Given the description of an element on the screen output the (x, y) to click on. 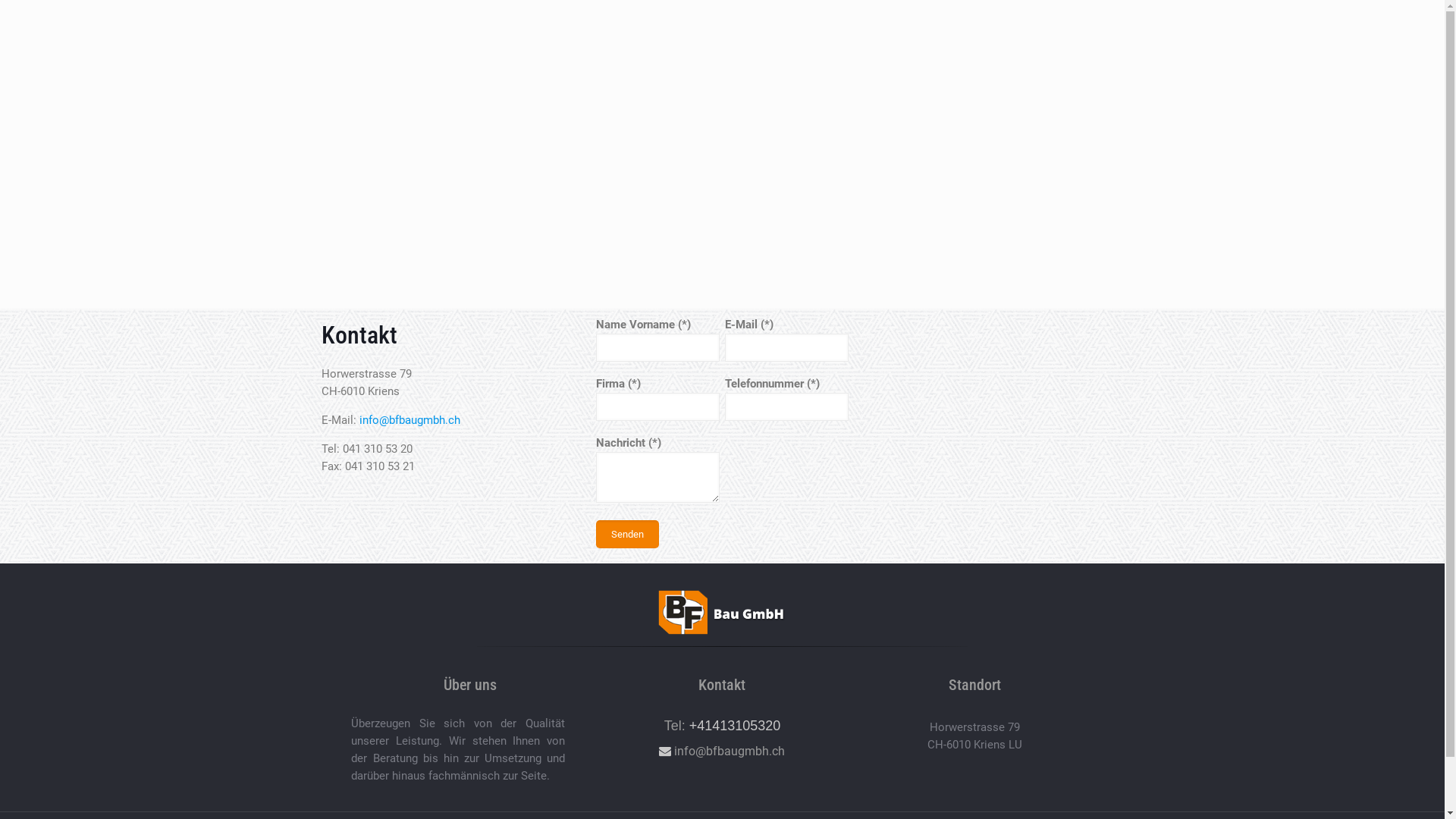
Senden Element type: text (627, 534)
info@bfbaugmbh.ch Element type: text (721, 750)
+41413105320 Element type: text (735, 725)
info@bfbaugmbh.ch Element type: text (409, 419)
